Given the description of an element on the screen output the (x, y) to click on. 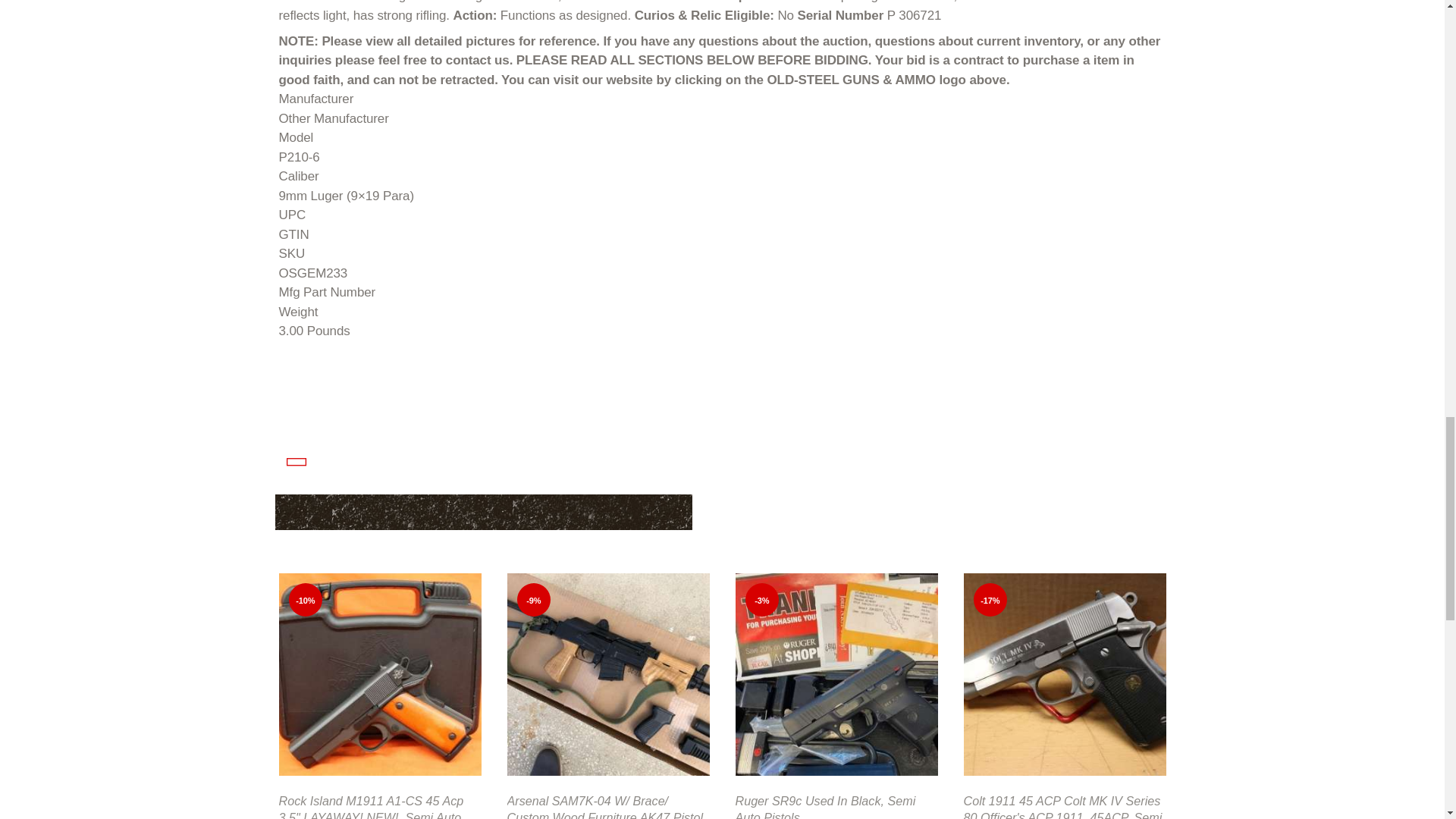
Other Manufacturer (722, 118)
OSGEM233 (722, 273)
P210-6 (722, 157)
3.00 Pounds (722, 331)
